Given the description of an element on the screen output the (x, y) to click on. 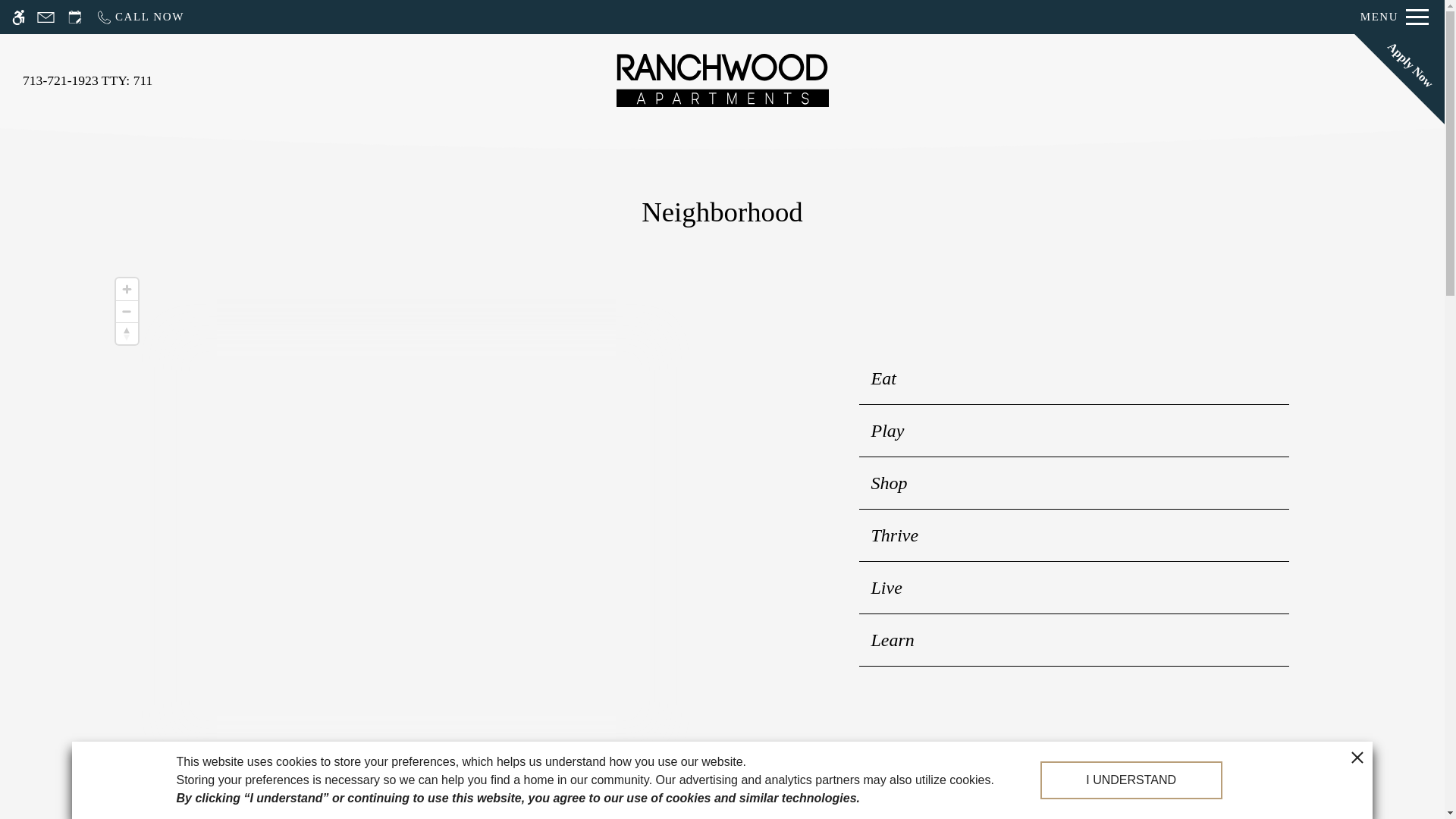
MENU (1394, 17)
Mapbox (214, 774)
713-721-1923 TTY: 711 (87, 79)
Contact page (45, 17)
Call now (139, 17)
Zoom in (125, 289)
CALL NOW (139, 17)
Reset bearing to north (125, 332)
OpenStreetMap (274, 774)
Zoom out (125, 311)
